Given the description of an element on the screen output the (x, y) to click on. 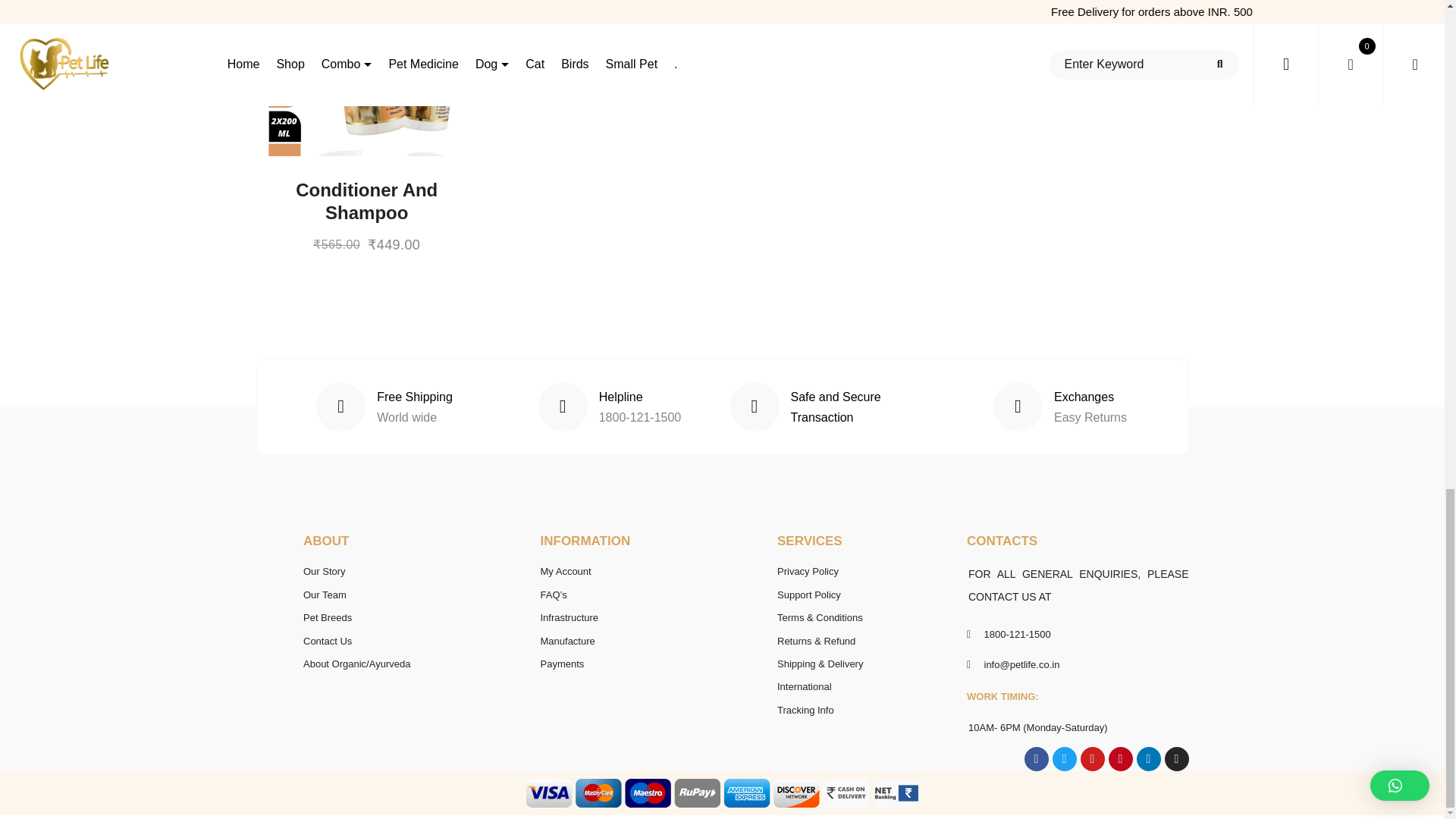
Conditioner and Shampoo (367, 273)
